Given the description of an element on the screen output the (x, y) to click on. 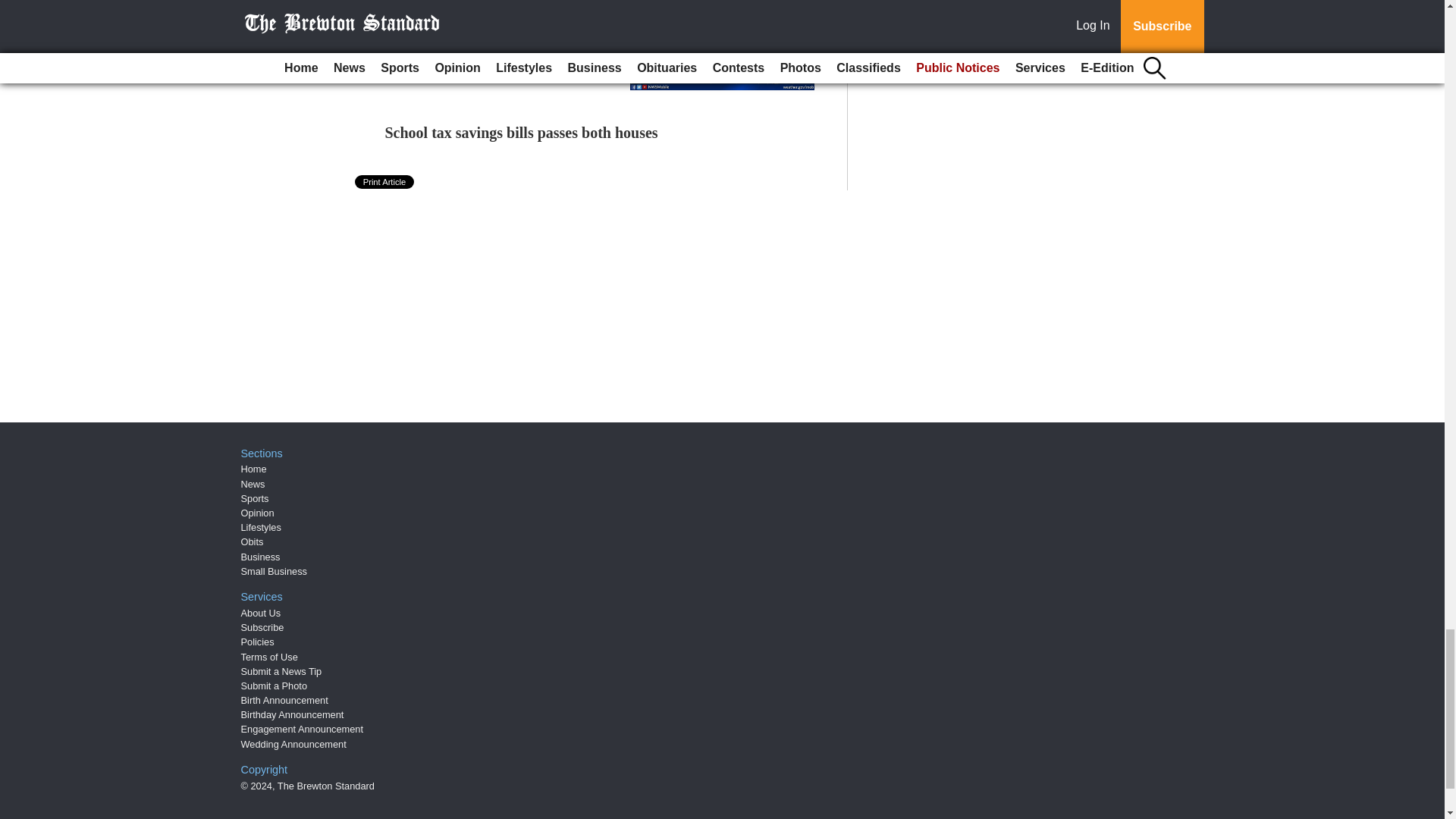
Print Article (384, 182)
School tax savings bills passes both houses (521, 132)
School tax savings bills passes both houses (521, 132)
